Given the description of an element on the screen output the (x, y) to click on. 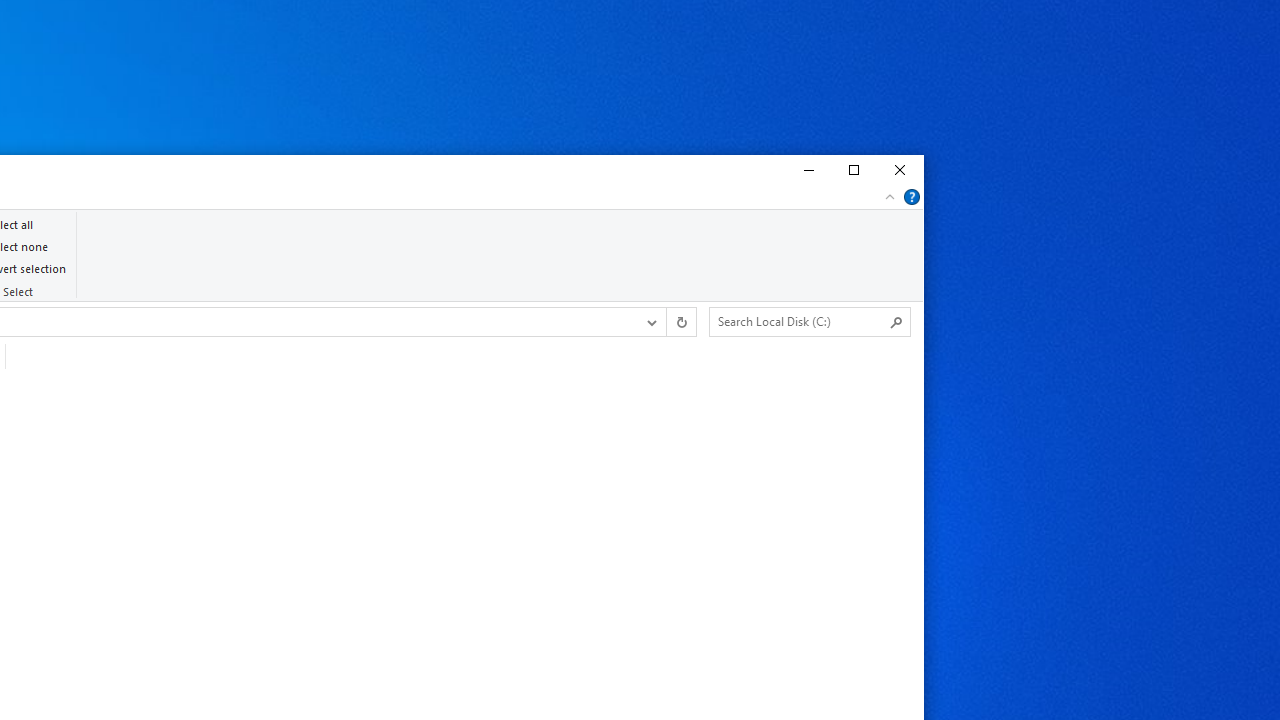
Refresh "Local Disk (C:)" (F5) (680, 321)
Minimize the Ribbon (890, 196)
Address band toolbar (666, 321)
Search (896, 321)
Minimize (806, 170)
Previous Locations (650, 321)
Help (911, 196)
Search Box (799, 321)
Close (900, 170)
Maximize (853, 170)
